Given the description of an element on the screen output the (x, y) to click on. 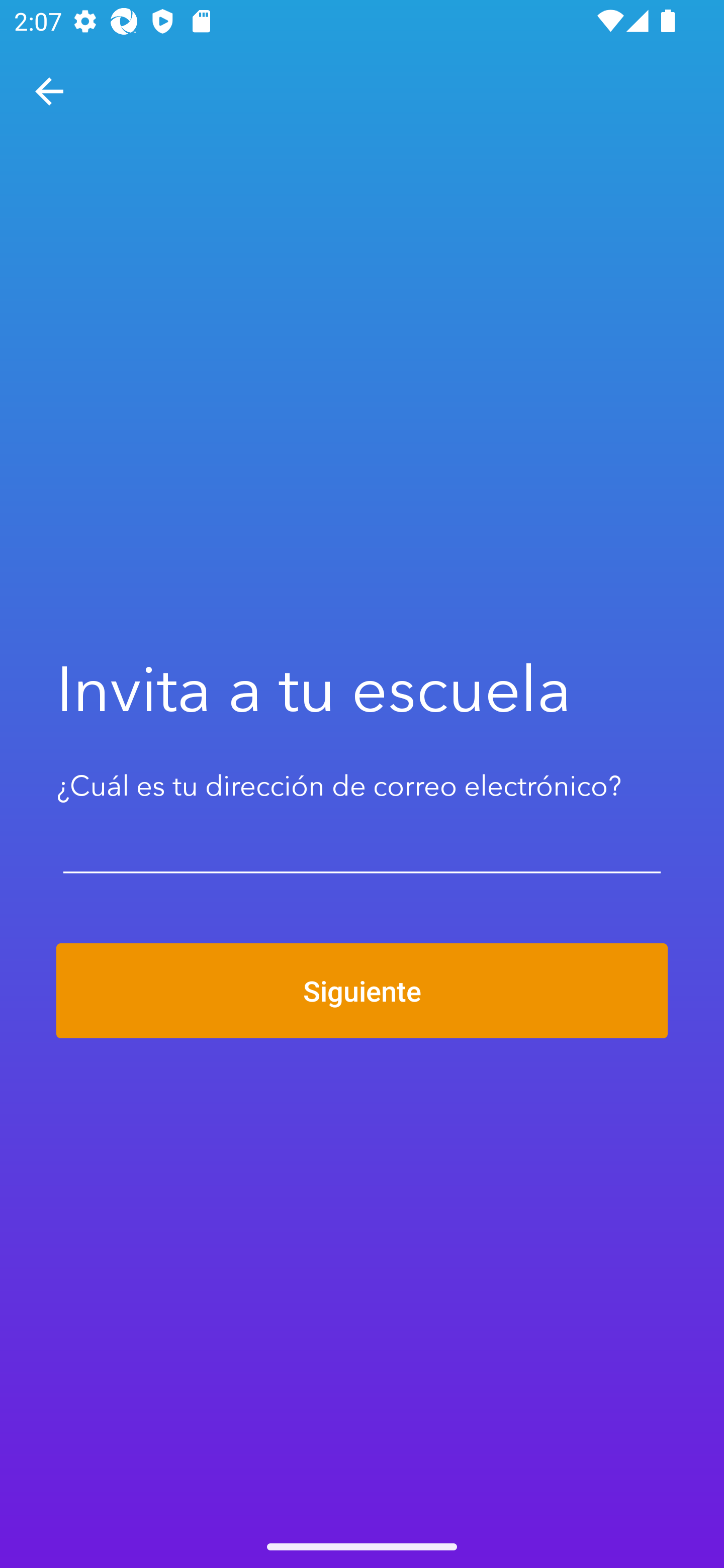
Navegar hacia arriba (49, 91)
Siguiente (361, 990)
